Given the description of an element on the screen output the (x, y) to click on. 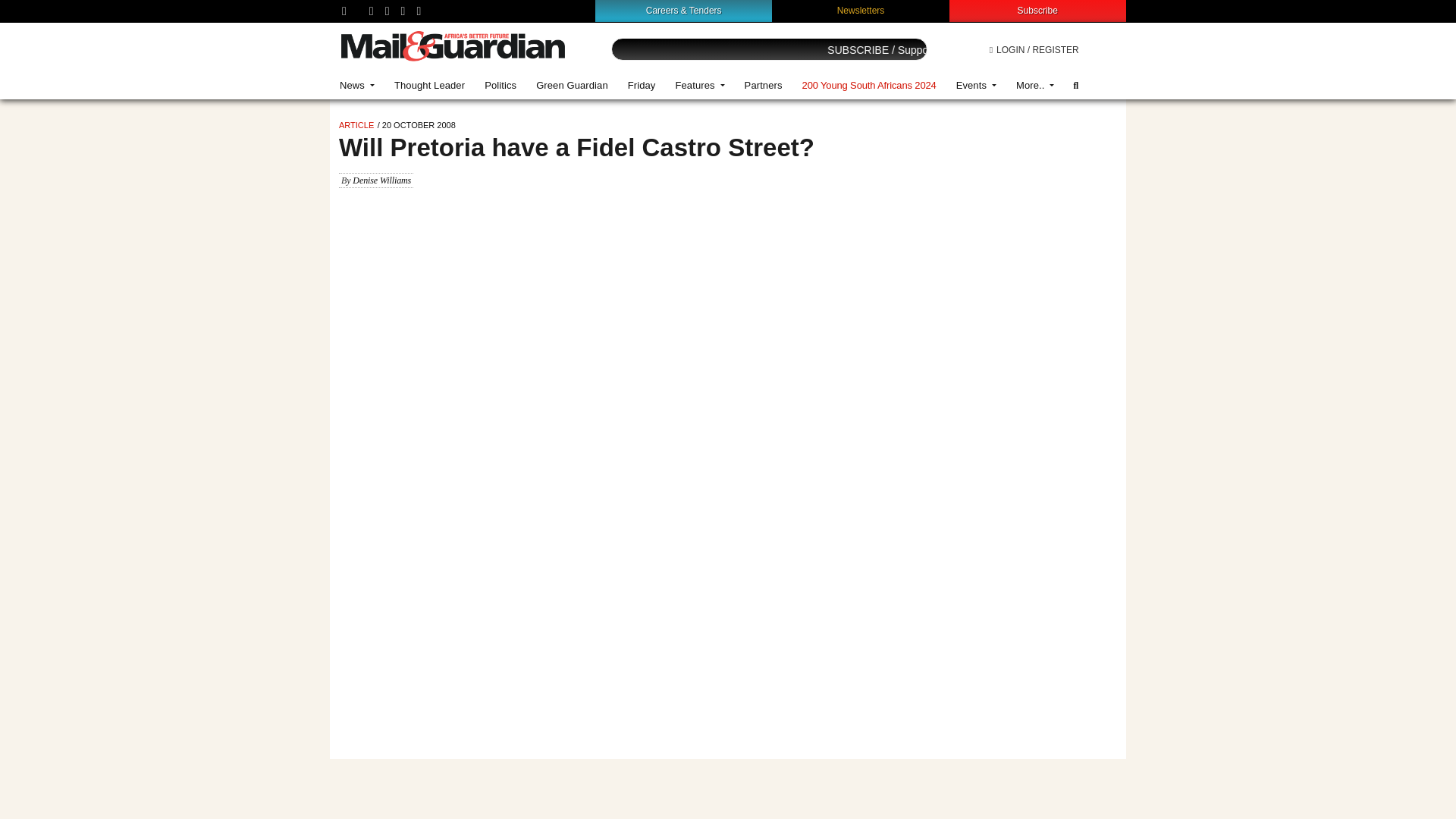
Friday (641, 85)
Features (699, 85)
Newsletters (861, 9)
Politics (499, 85)
Thought Leader (429, 85)
Subscribe (1037, 9)
Green Guardian (571, 85)
News (357, 85)
News (357, 85)
